Given the description of an element on the screen output the (x, y) to click on. 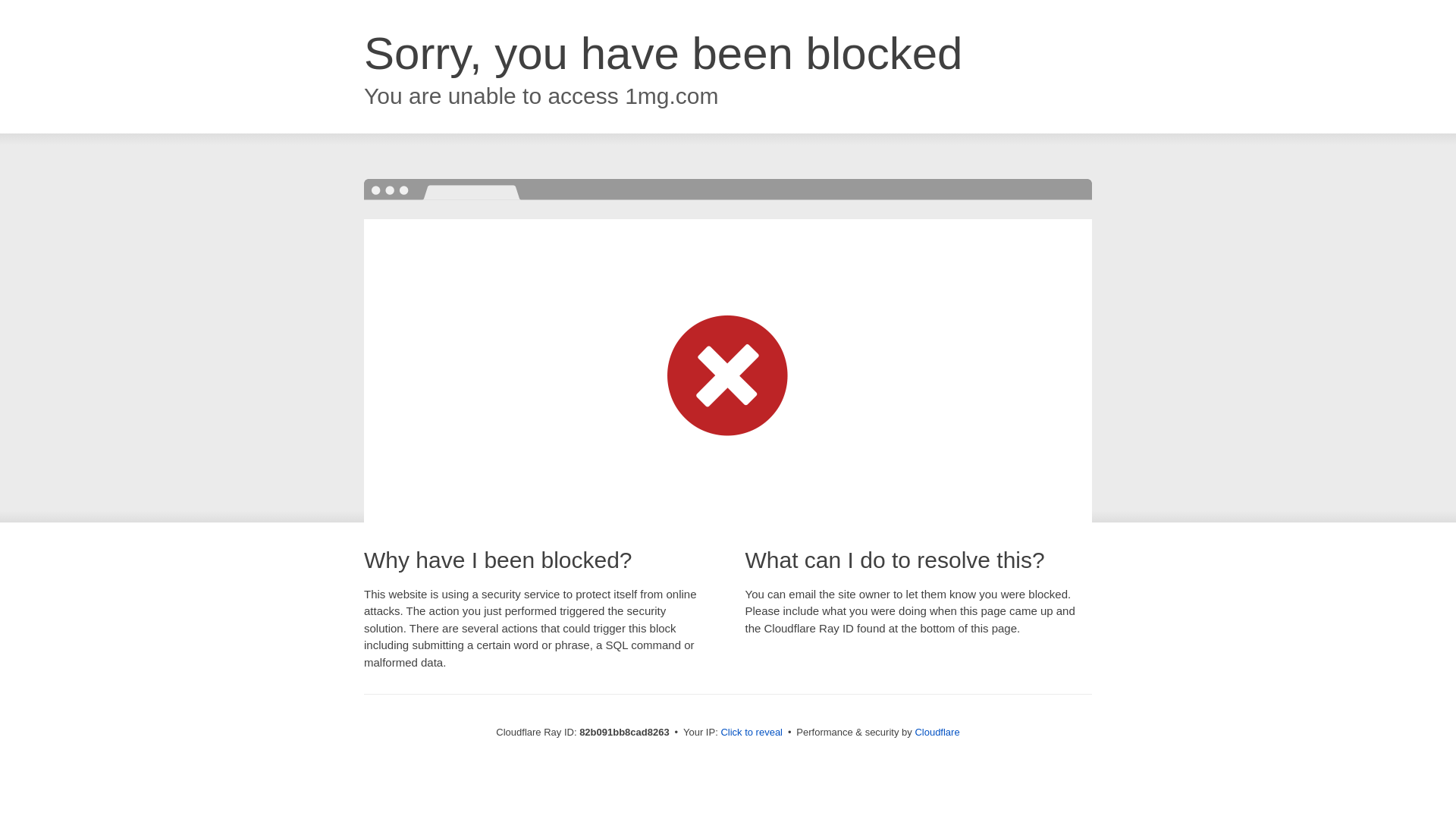
Cloudflare Element type: text (936, 731)
Click to reveal Element type: text (751, 732)
